Given the description of an element on the screen output the (x, y) to click on. 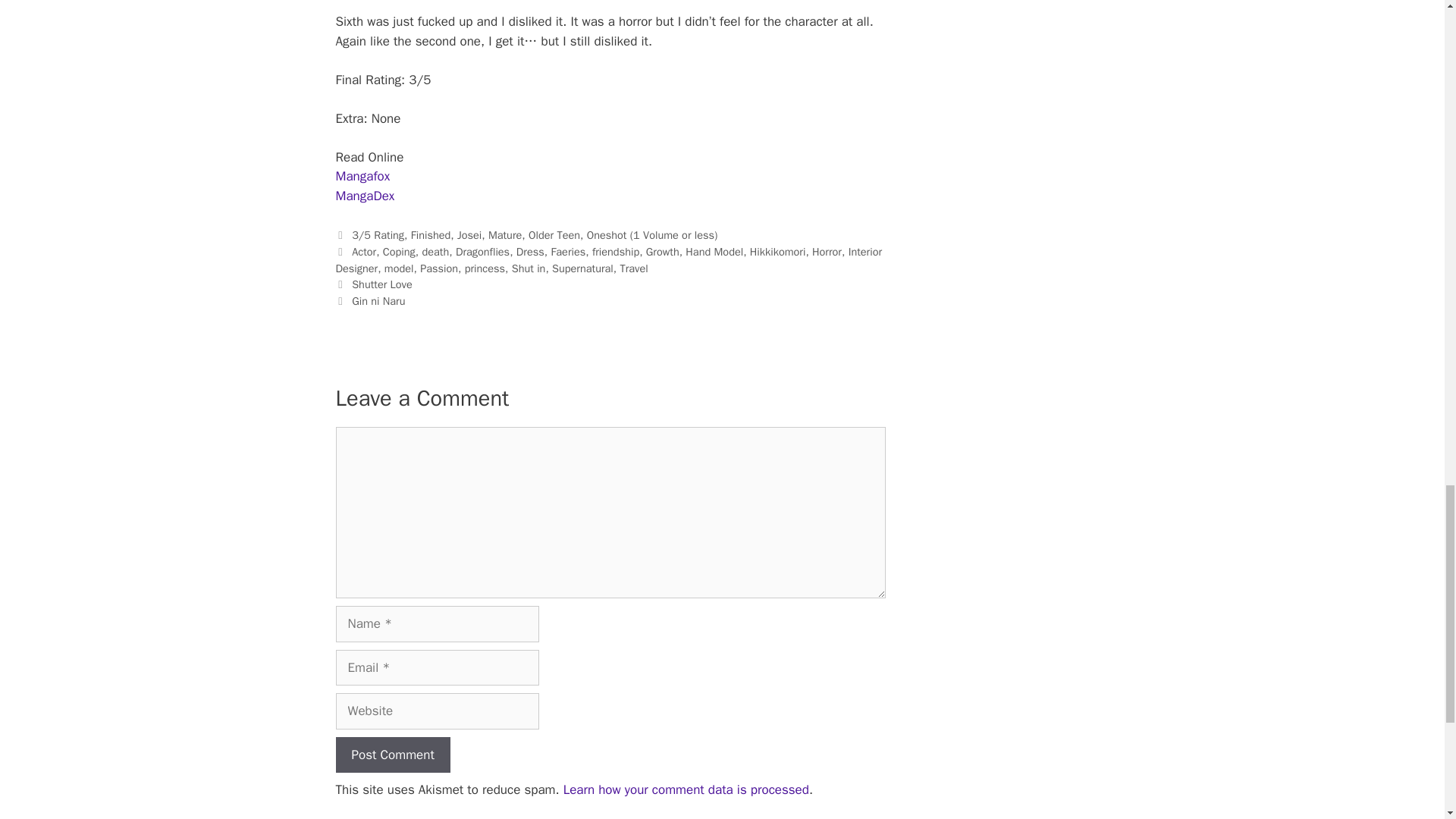
Mangafox (362, 176)
Mature (504, 234)
Dress (530, 251)
Horror (826, 251)
MangaDex (364, 195)
Coping (398, 251)
Growth (662, 251)
princess (484, 268)
death (435, 251)
Dragonflies (482, 251)
